Given the description of an element on the screen output the (x, y) to click on. 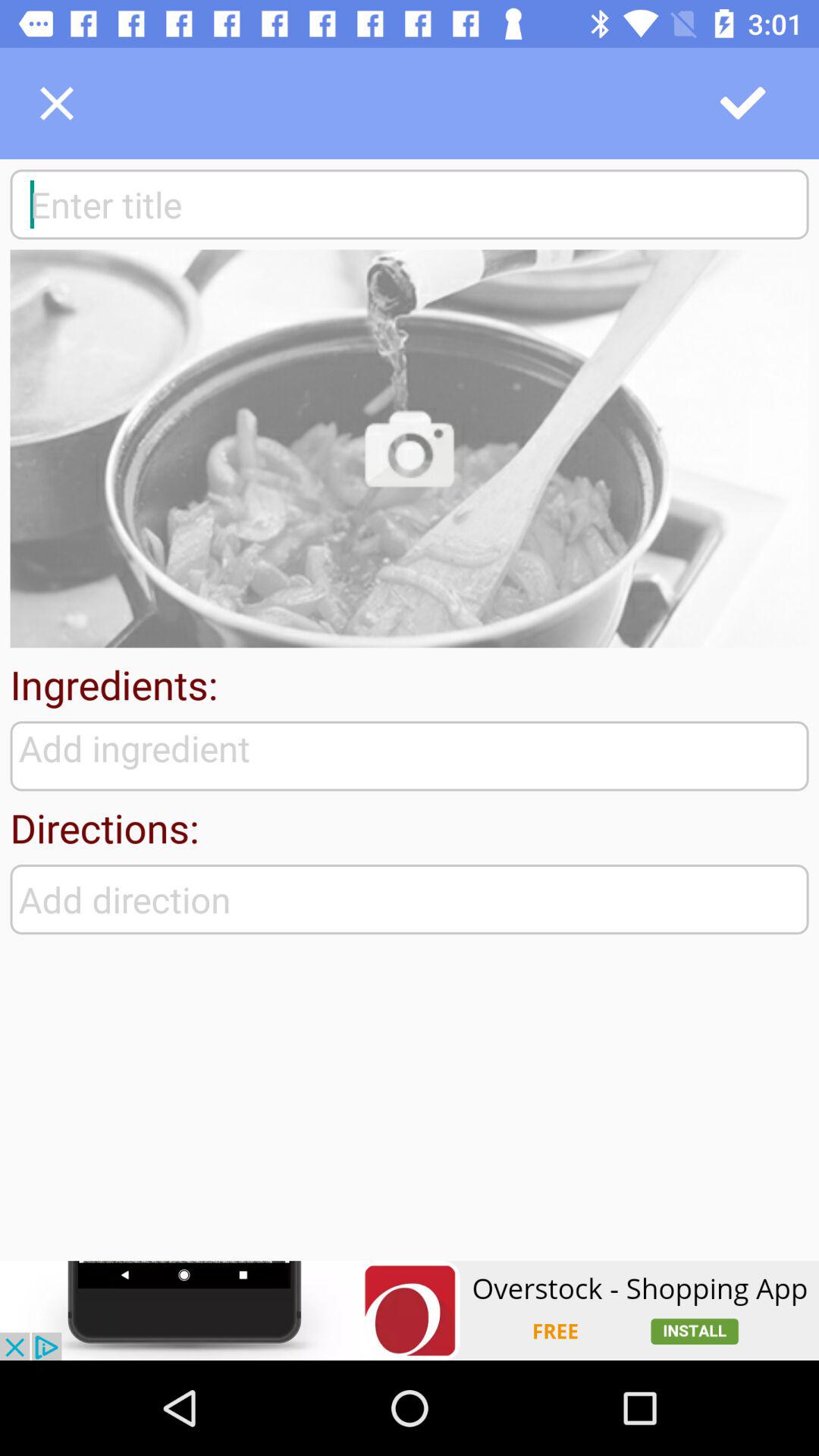
go to close button (56, 103)
